Given the description of an element on the screen output the (x, y) to click on. 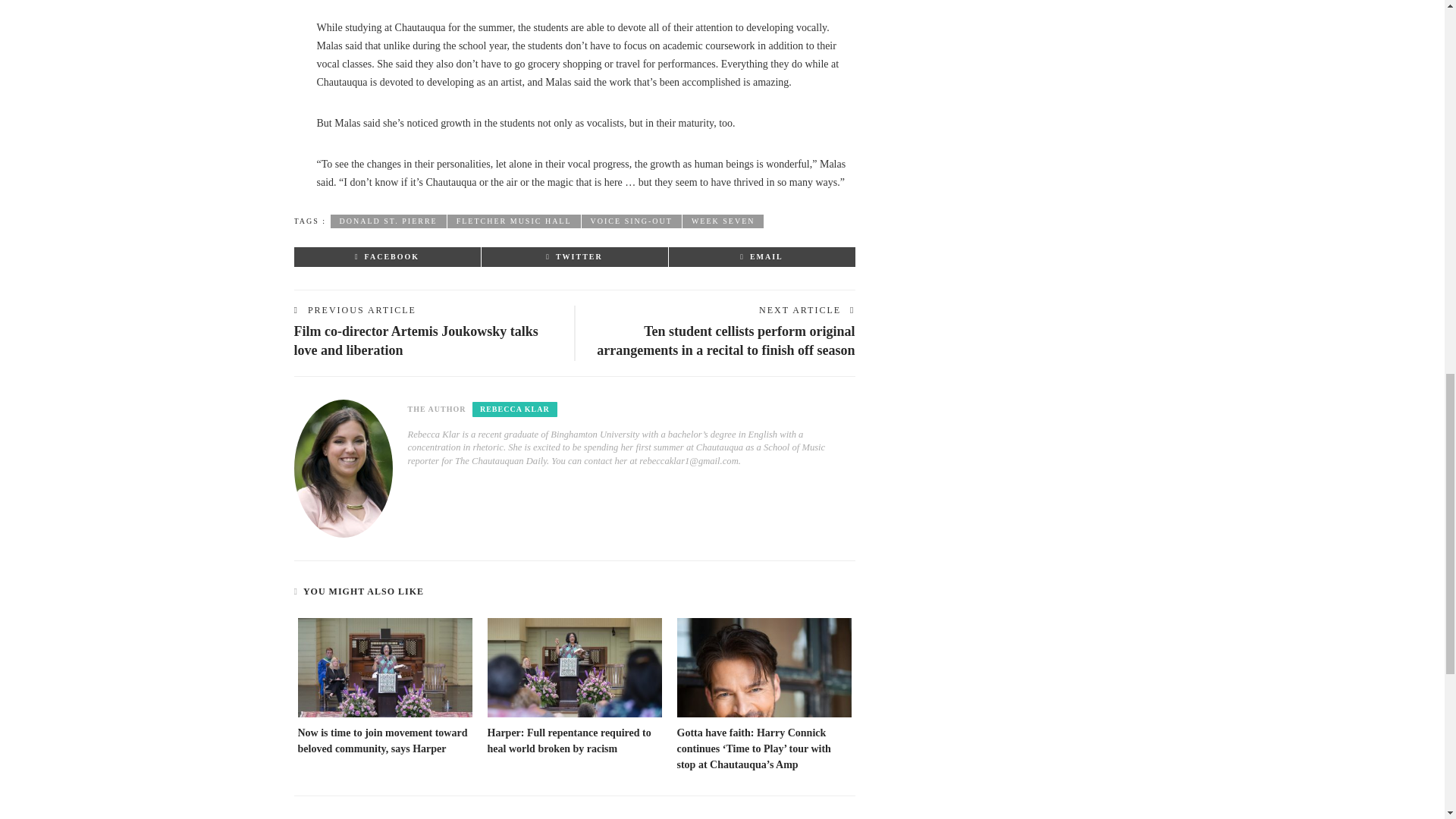
Donald St. Pierre (388, 221)
Fletcher Music Hall (513, 221)
Film co-director Artemis Joukowsky talks love and liberation (416, 340)
voice sing-out (630, 221)
Week Seven (723, 221)
